Given the description of an element on the screen output the (x, y) to click on. 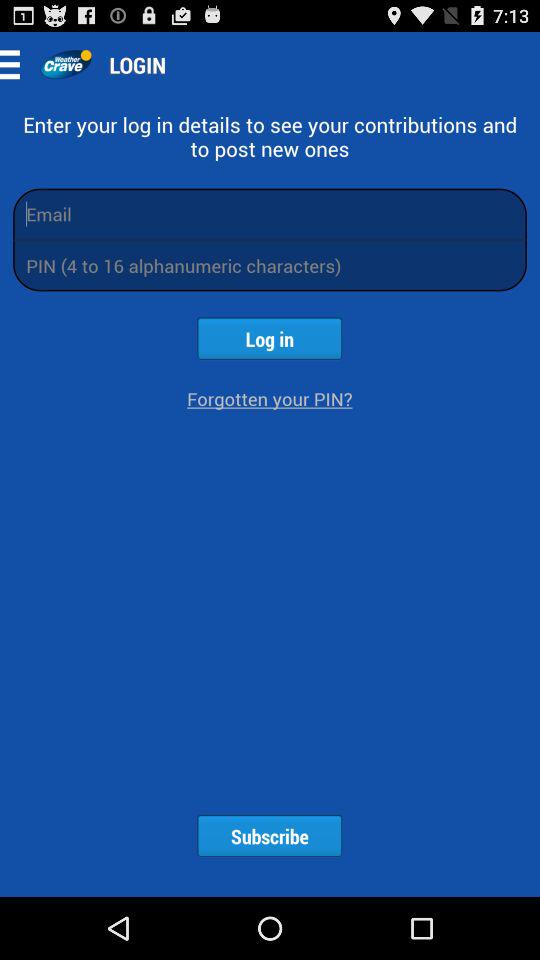
press item above enter your log app (65, 64)
